Given the description of an element on the screen output the (x, y) to click on. 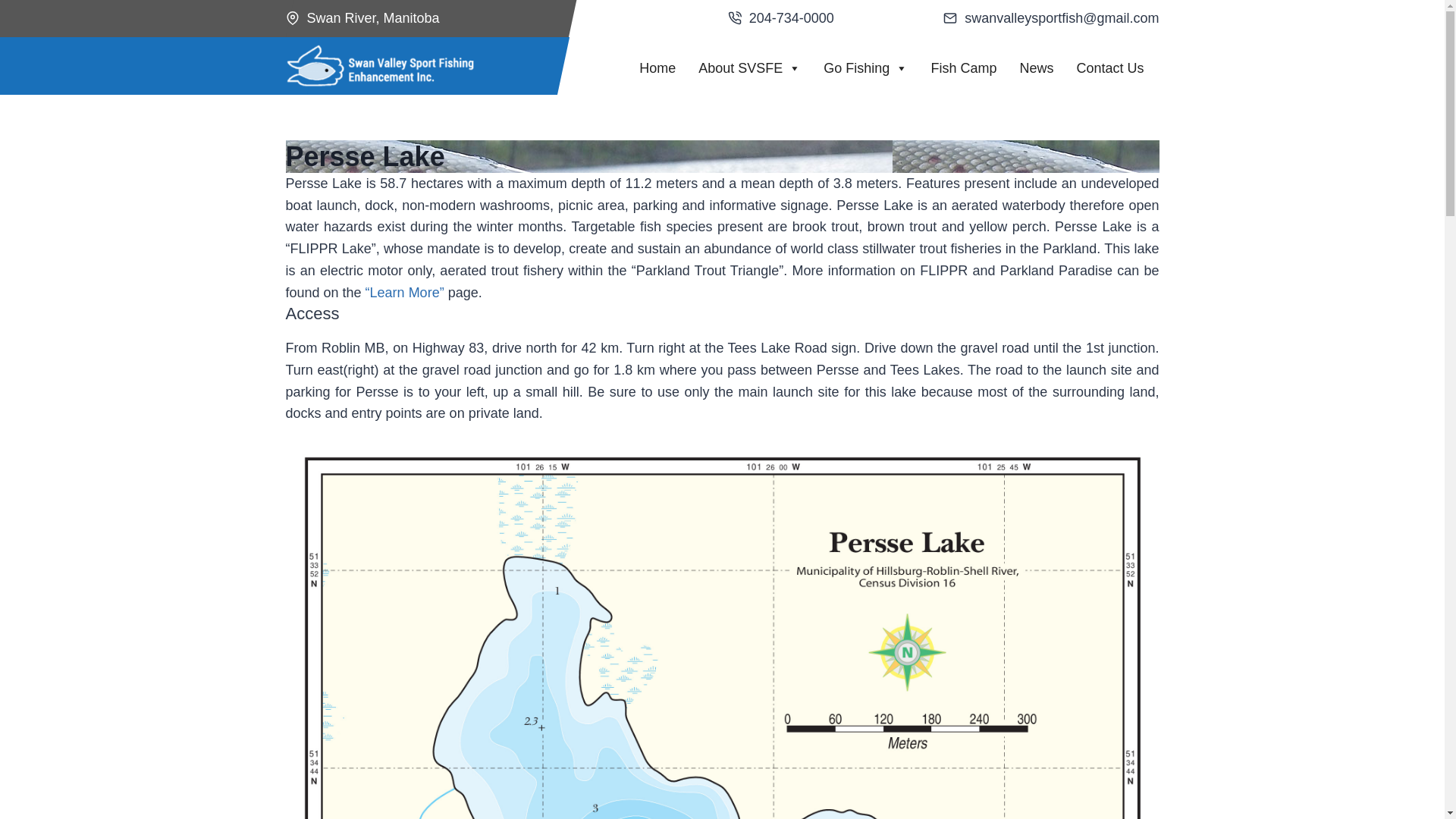
About SVSFE (749, 65)
Contact Us (1109, 65)
Fish Camp (963, 65)
News (1036, 65)
Home (656, 65)
Go Fishing (865, 65)
